Given the description of an element on the screen output the (x, y) to click on. 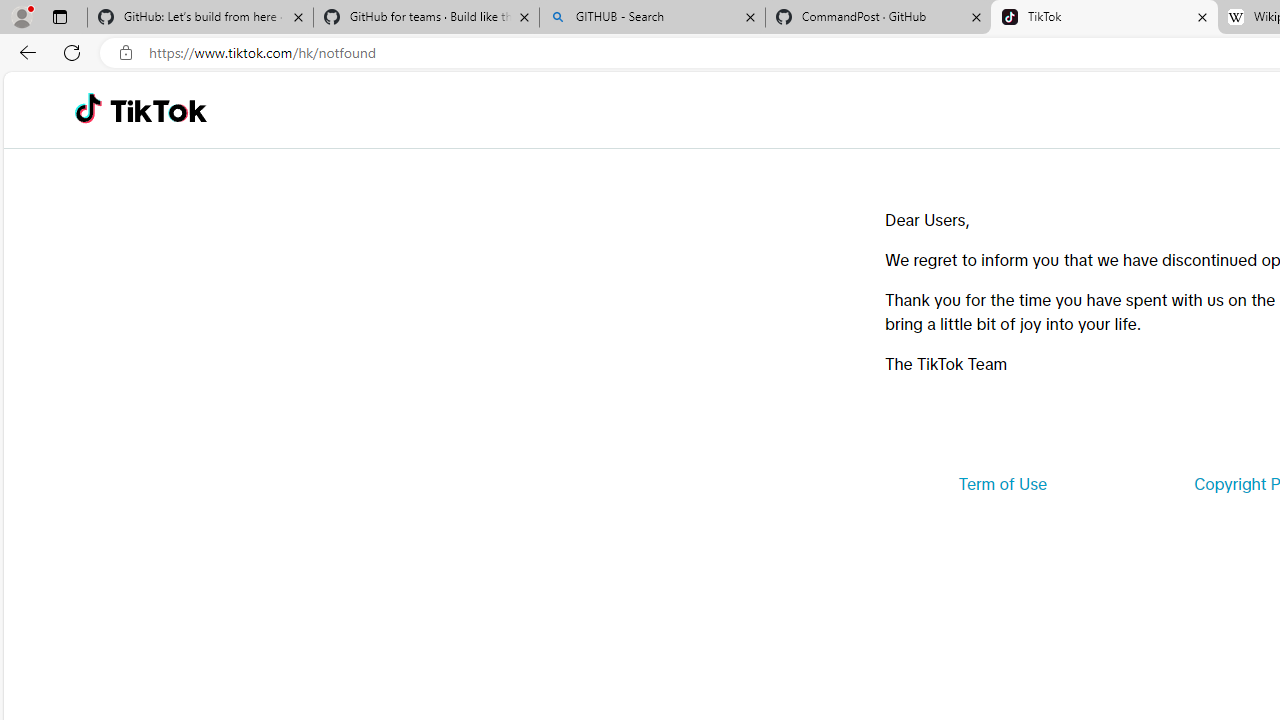
GITHUB - Search (652, 17)
Term of Use (1002, 484)
